Given the description of an element on the screen output the (x, y) to click on. 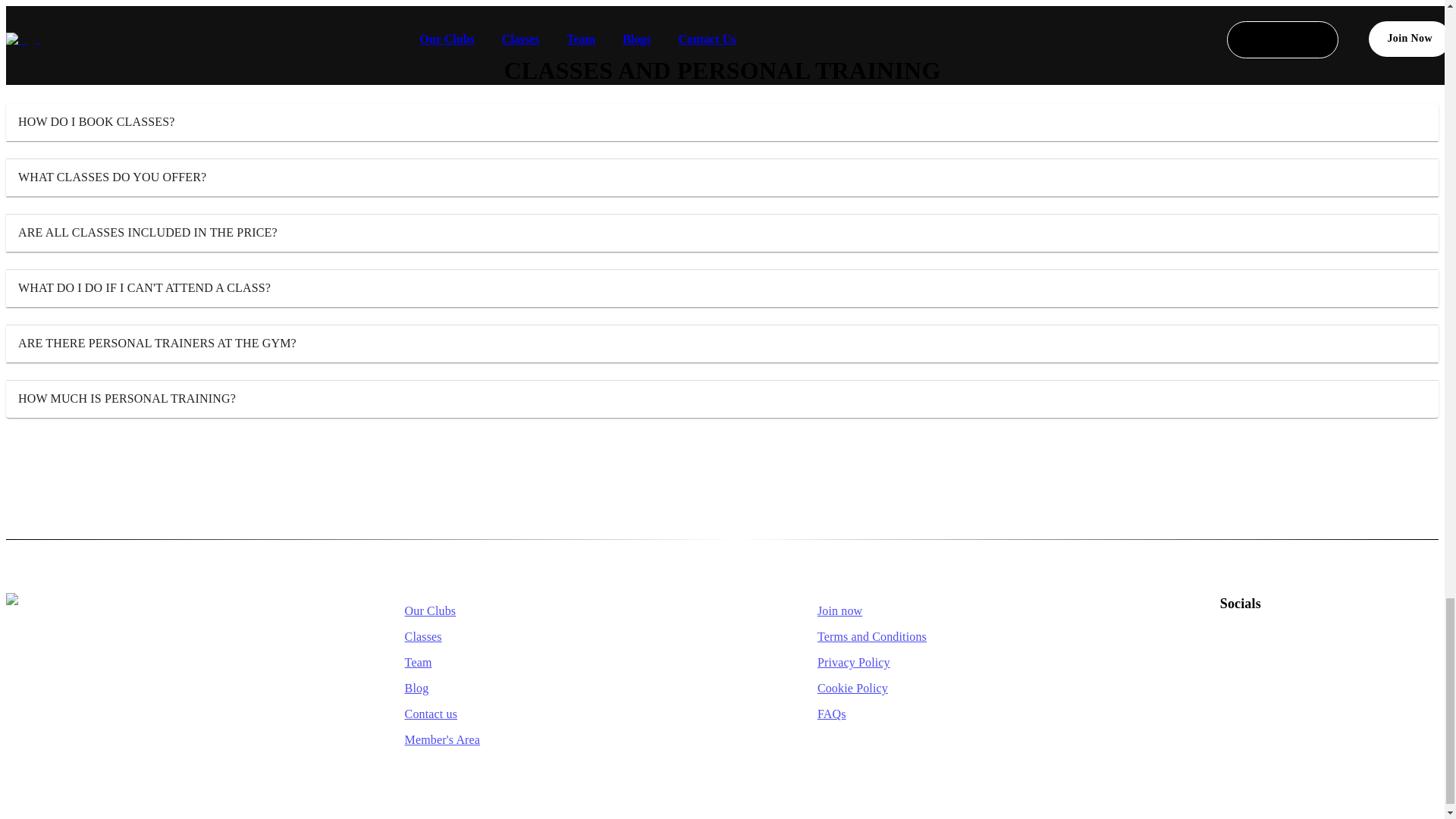
FAQs (988, 714)
Member's Area (576, 740)
Our Clubs (576, 610)
Privacy Policy (988, 662)
Cookie Policy (988, 688)
Blog (576, 688)
Team (576, 662)
Terms and Conditions (988, 637)
Classes (576, 637)
Contact us (576, 714)
